Given the description of an element on the screen output the (x, y) to click on. 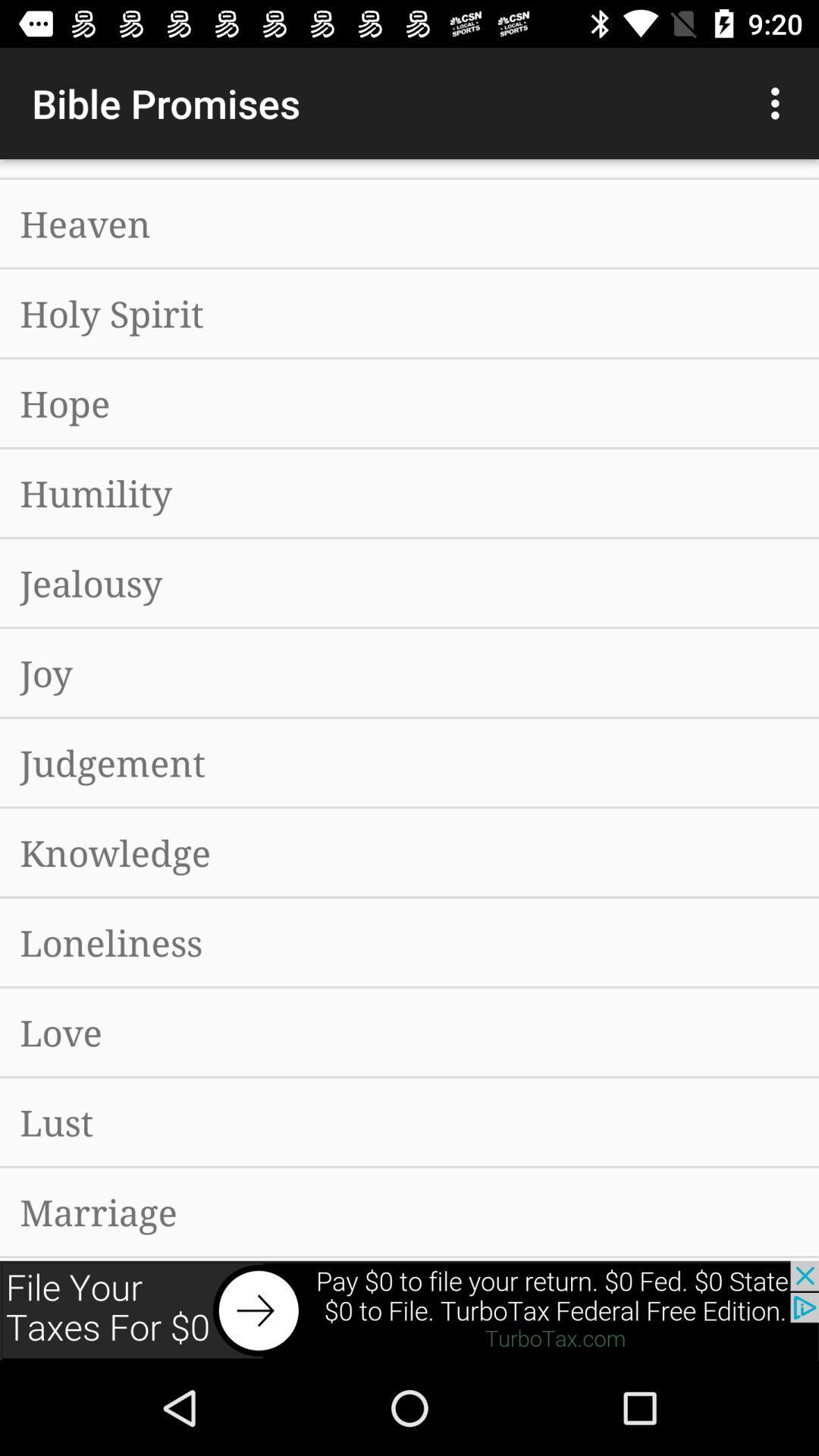
advertisement (409, 1310)
